Given the description of an element on the screen output the (x, y) to click on. 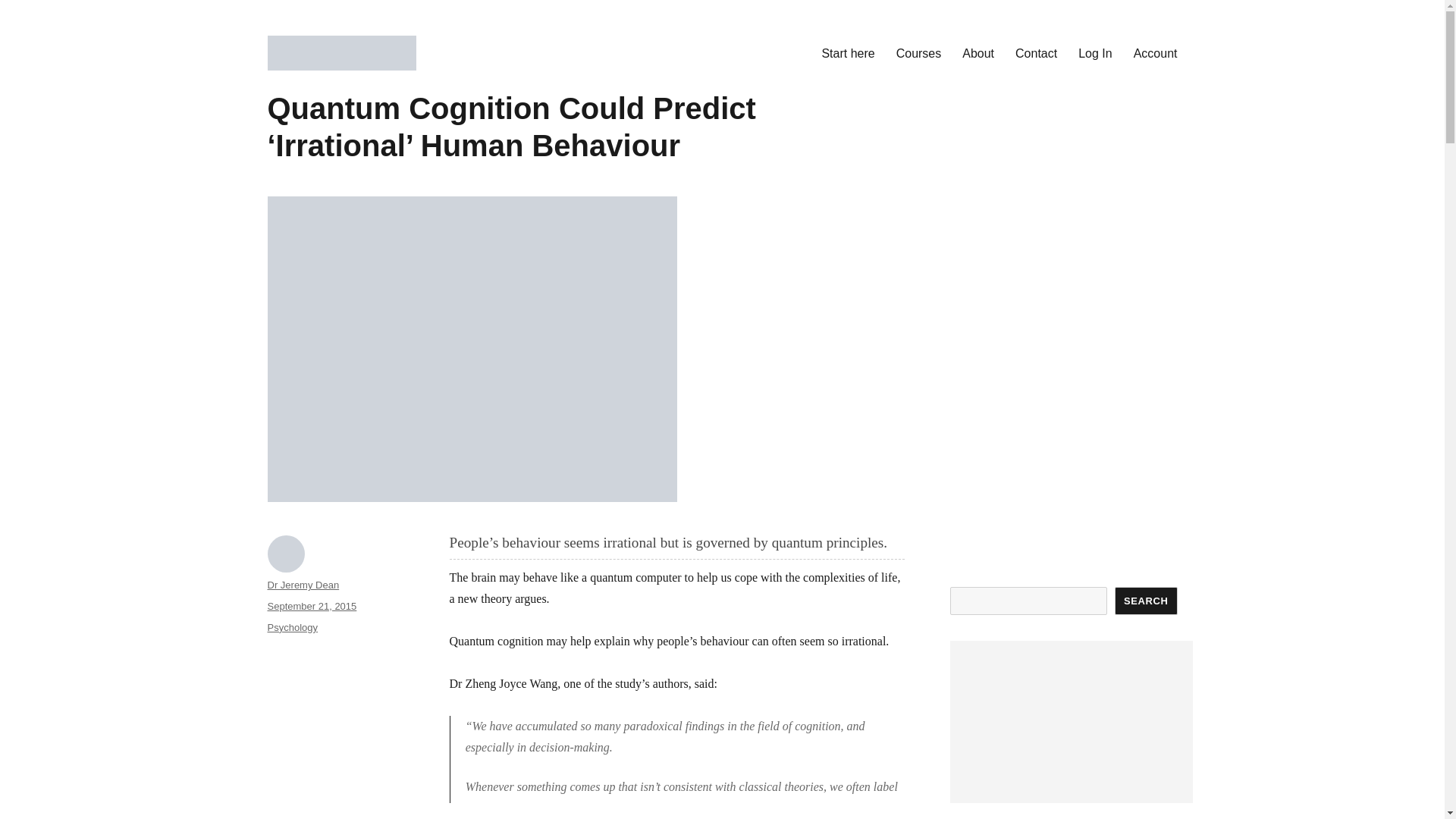
Dr Jeremy Dean (302, 584)
September 21, 2015 (311, 605)
Courses (918, 52)
Psychology (291, 627)
Start here (847, 52)
PsyBlog (309, 94)
SEARCH (1146, 601)
Log In (1094, 52)
Account (1155, 52)
About (978, 52)
